Given the description of an element on the screen output the (x, y) to click on. 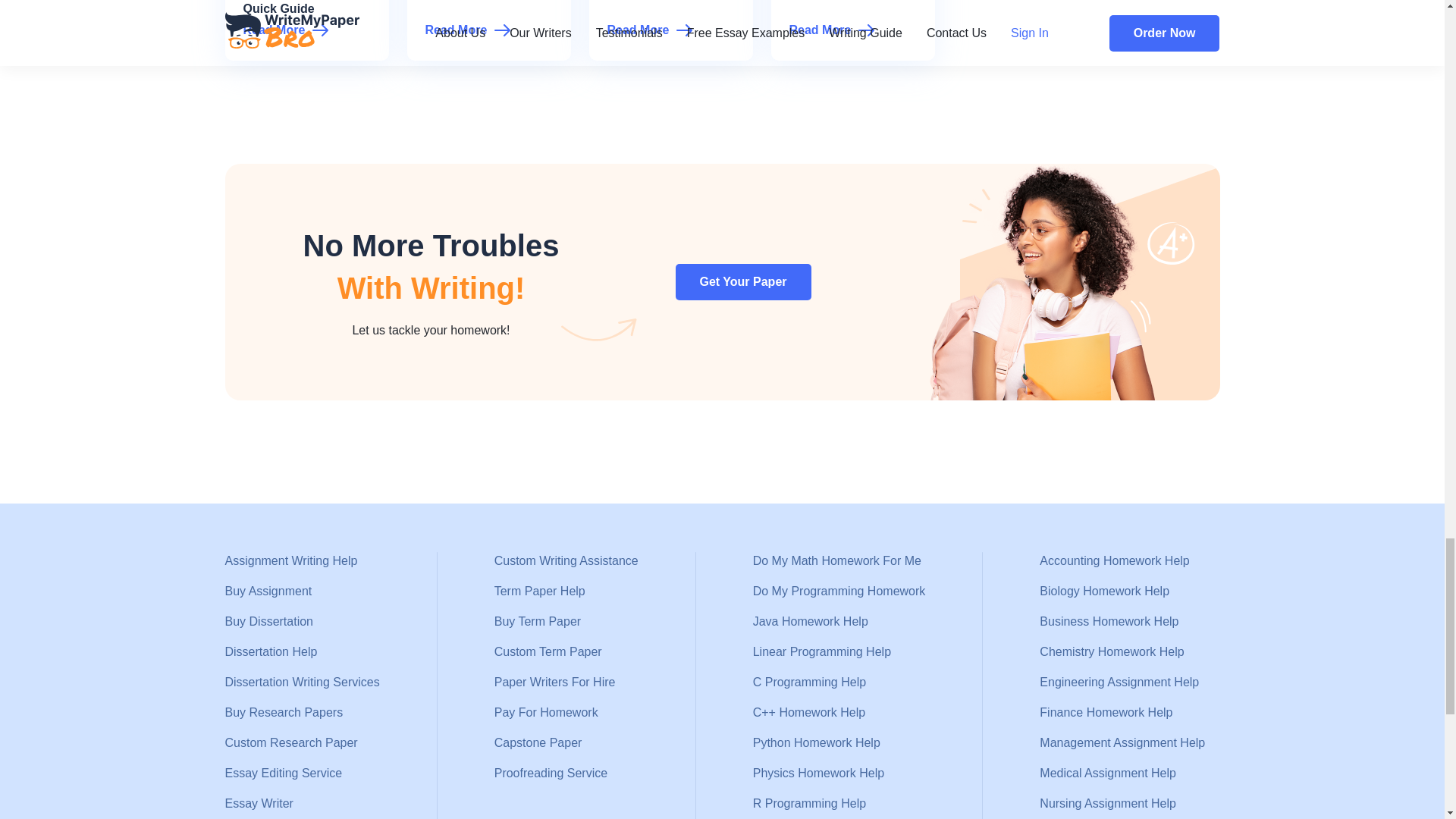
Read More (852, 30)
Dissertation Help (301, 651)
Read More (306, 30)
Buy Dissertation (301, 621)
Get Your Paper (742, 281)
Read More (488, 30)
Assignment Writing Help (301, 561)
Read More (670, 30)
Buy Assignment (301, 591)
